Given the description of an element on the screen output the (x, y) to click on. 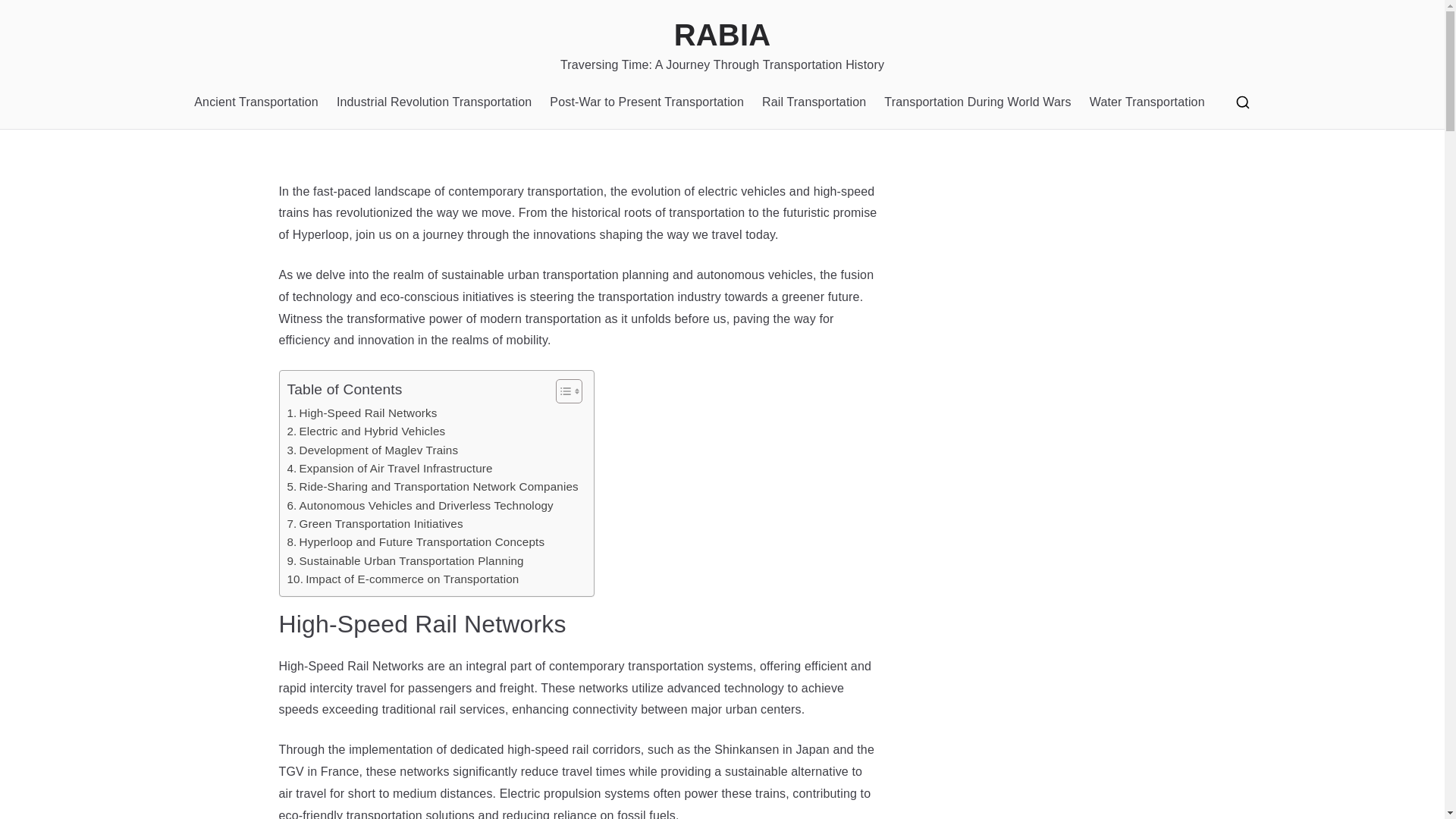
Autonomous Vehicles and Driverless Technology (419, 505)
Transportation During World Wars (976, 102)
Expansion of Air Travel Infrastructure (389, 468)
High-Speed Rail Networks (361, 413)
Electric and Hybrid Vehicles (365, 431)
Green Transportation Initiatives (374, 524)
Expansion of Air Travel Infrastructure (389, 468)
Impact of E-commerce on Transportation (402, 579)
Post-War to Present Transportation (647, 102)
Rail Transportation (813, 102)
Sustainable Urban Transportation Planning (404, 561)
Development of Maglev Trains (372, 450)
Industrial Revolution Transportation (433, 102)
RABIA (722, 34)
Hyperloop and Future Transportation Concepts (415, 542)
